Given the description of an element on the screen output the (x, y) to click on. 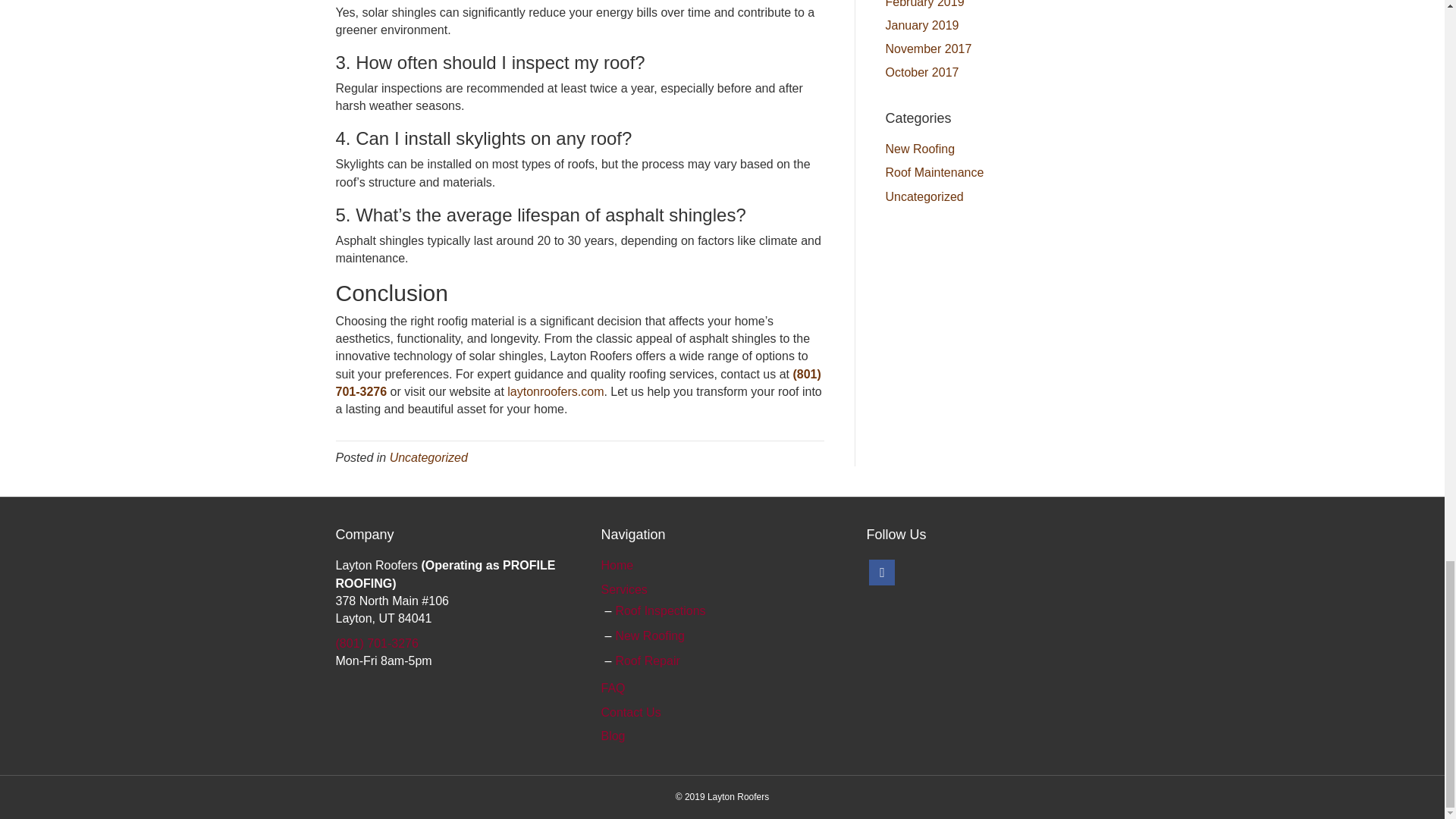
Uncategorized (428, 457)
laytonroofers.com (555, 391)
Facebook (882, 571)
